Given the description of an element on the screen output the (x, y) to click on. 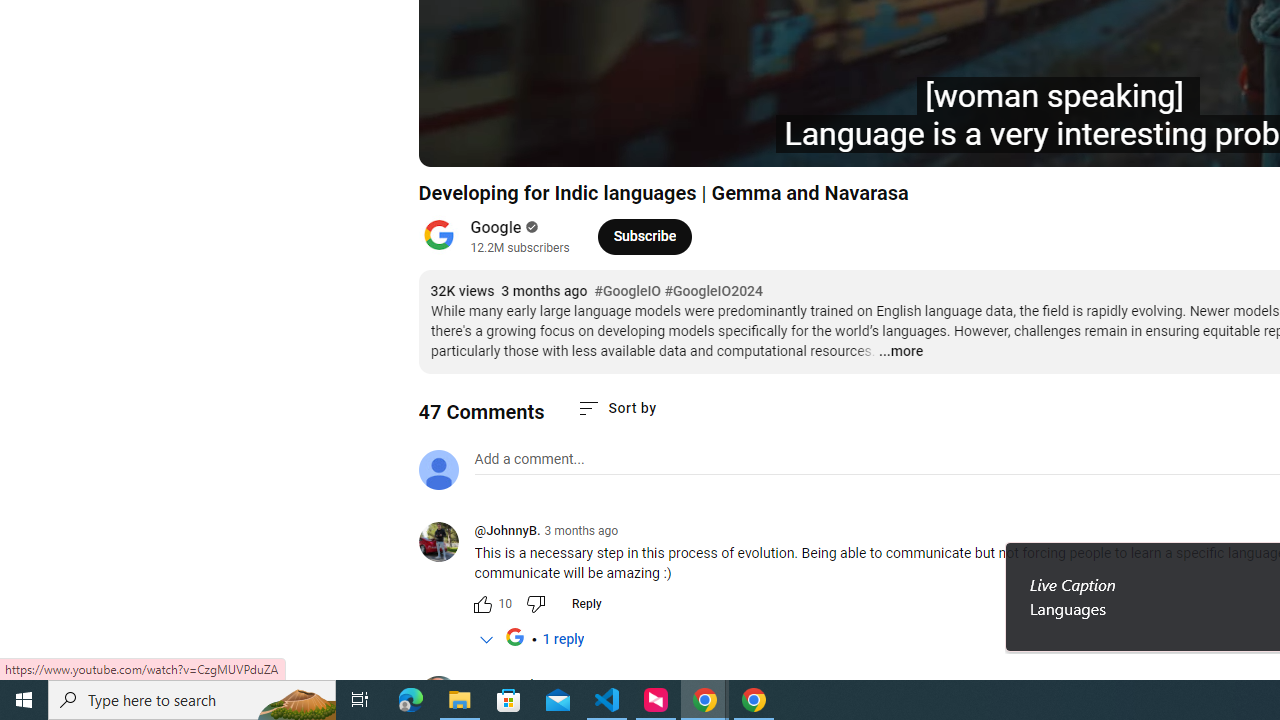
@gamarsh1960 (520, 686)
@gamarsh1960 (446, 697)
Next (SHIFT+n) (500, 142)
Subscribe to Google. (644, 236)
...more (900, 352)
Mute (m) (548, 142)
AutomationID: simplebox-placeholder (528, 459)
Pause (k) (453, 142)
